Given the description of an element on the screen output the (x, y) to click on. 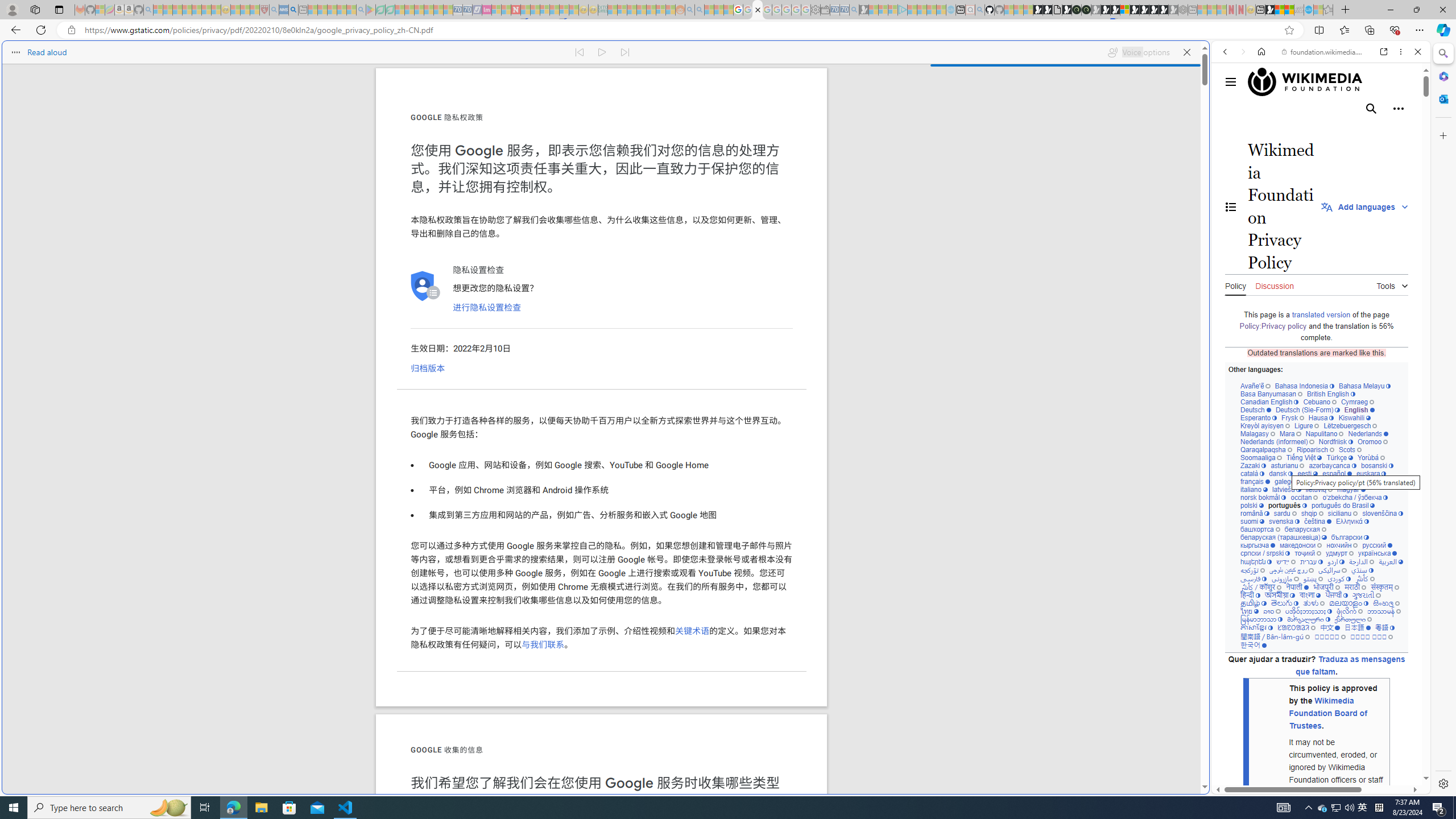
Scots (1350, 449)
hrvatski (1319, 481)
Kiswahili (1354, 417)
Read previous paragraph (579, 52)
google_privacy_policy_zh-CN.pdf (1118, 683)
Voice options (1138, 52)
